Given the description of an element on the screen output the (x, y) to click on. 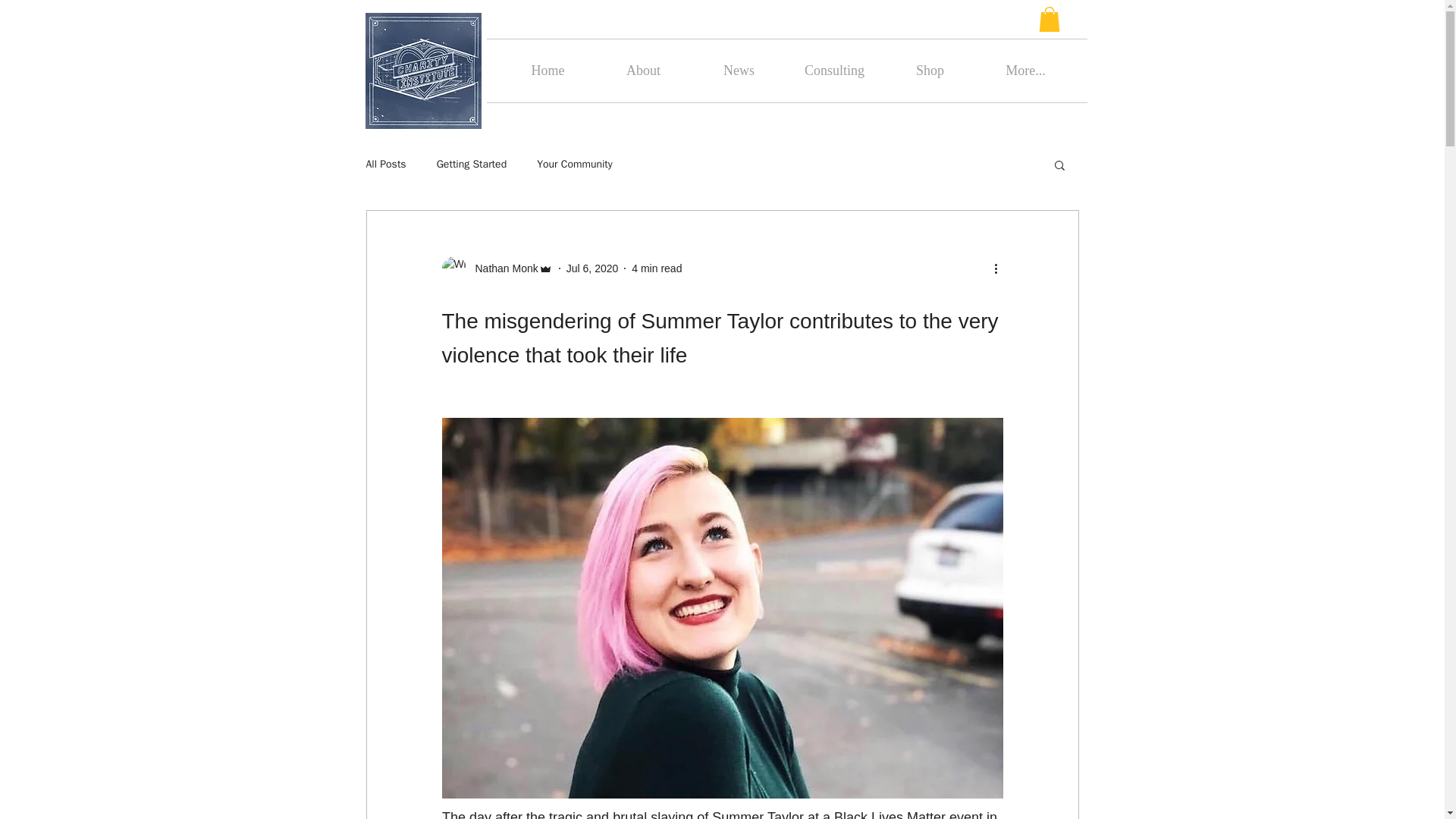
News (739, 70)
Consulting (834, 70)
Getting Started (471, 164)
Shop (930, 70)
All Posts (385, 164)
Home (547, 70)
Nathan Monk (501, 268)
4 min read (656, 268)
Jul 6, 2020 (592, 268)
Nathan Monk (496, 268)
